Given the description of an element on the screen output the (x, y) to click on. 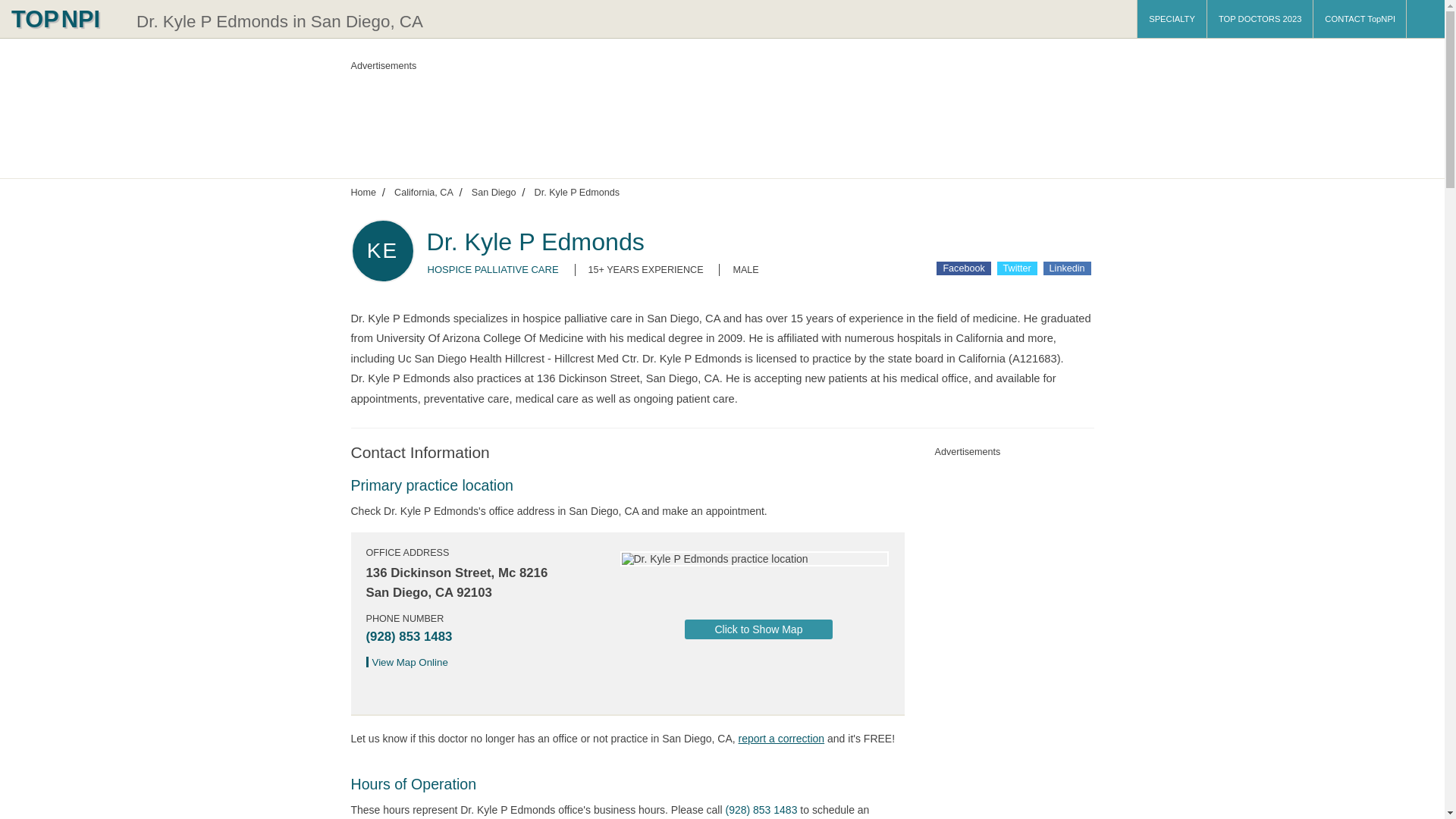
HOSPICE PALLIATIVE CARE (493, 269)
Share Dr. Kyle P Edmonds on Facebook (963, 268)
Home (362, 191)
CONTACT TopNPI (1359, 18)
report a correction (781, 738)
Linkedin (1066, 268)
TOP DOCTORS 2023 (1260, 18)
Click to Show Map (758, 629)
Click to show map (758, 629)
California, CA (423, 191)
Share Dr. Kyle P Edmonds on Linkedin (1066, 268)
Dr. Kyle P Edmonds in San Diego, CA (279, 21)
TOPNPI (64, 18)
Dr. Kyle P Edmonds in San Diego, CA (279, 21)
Twitter (1016, 268)
